Given the description of an element on the screen output the (x, y) to click on. 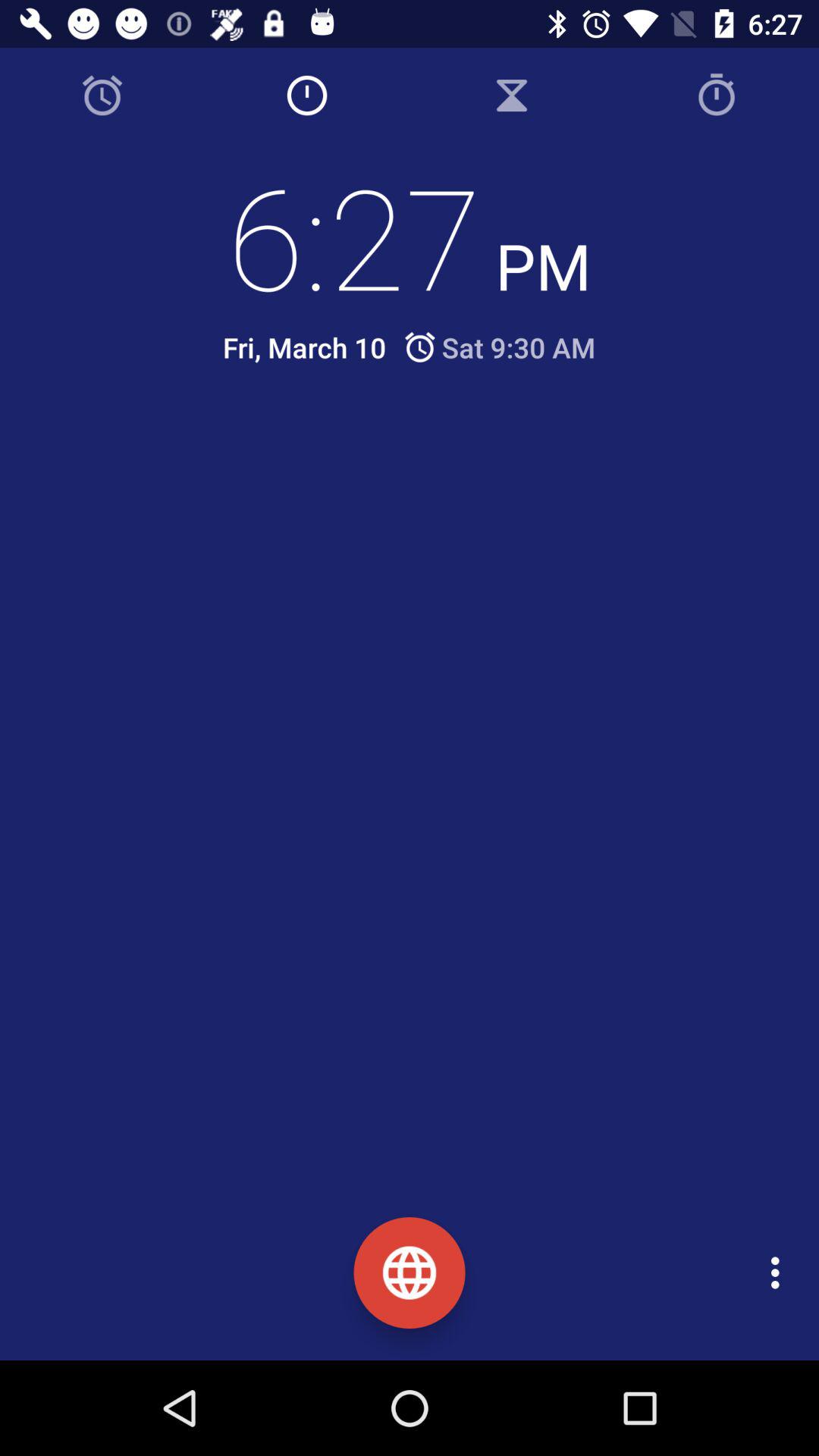
select the icon to the right of fri, march 10 item (498, 347)
